Given the description of an element on the screen output the (x, y) to click on. 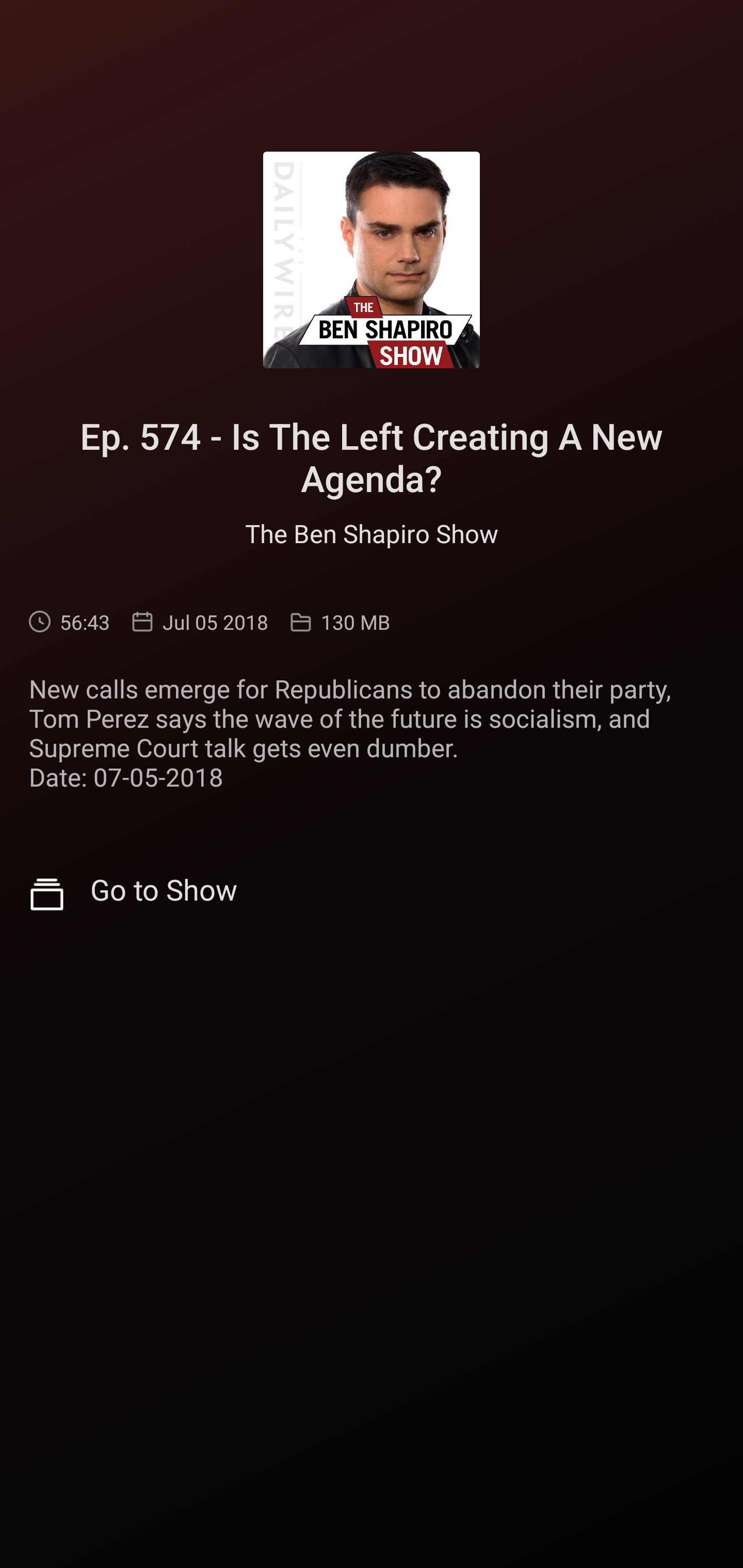
Go to Show (371, 894)
